Given the description of an element on the screen output the (x, y) to click on. 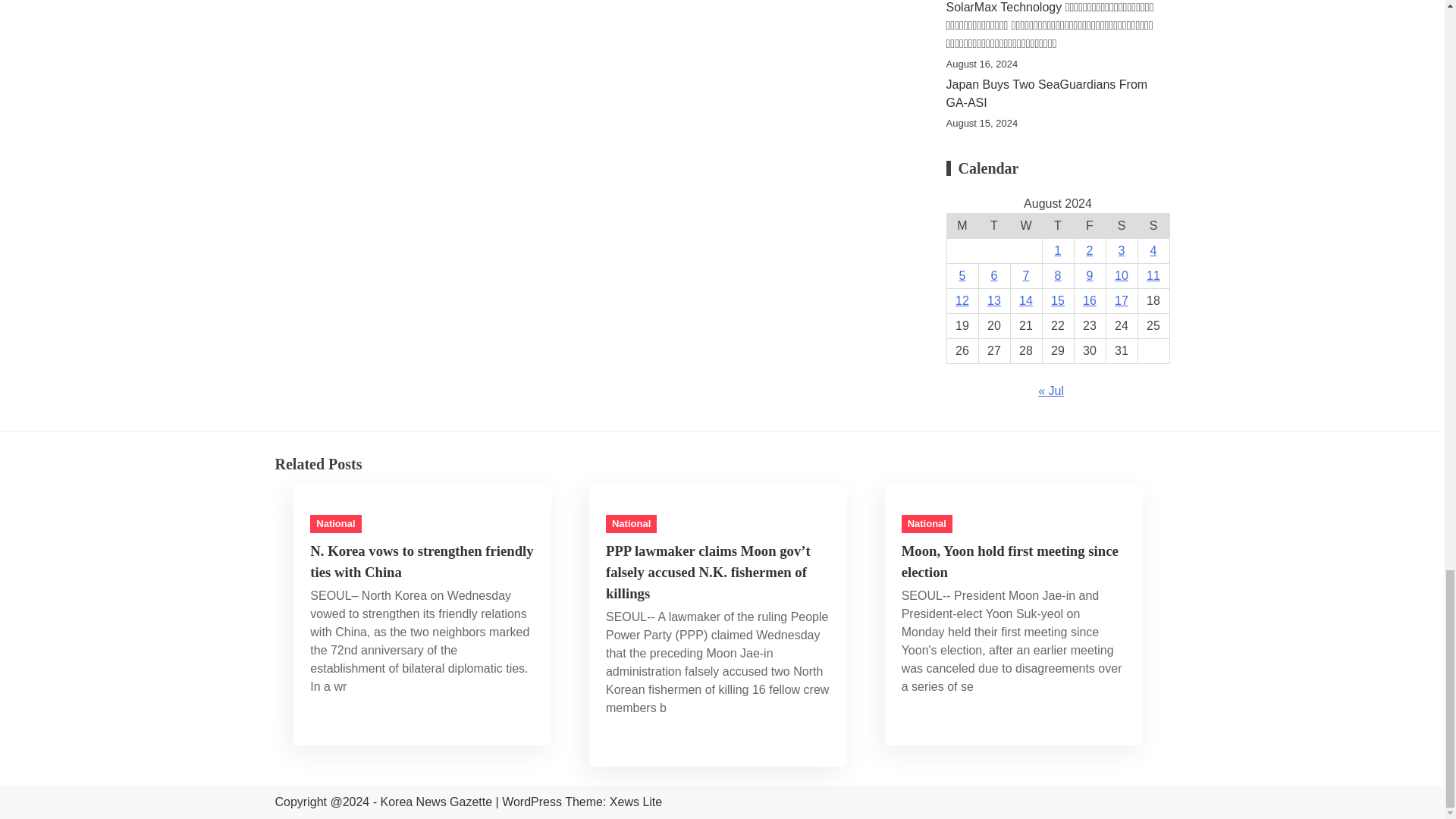
Wednesday (1026, 226)
Saturday (1121, 226)
Thursday (1058, 226)
Sunday (1153, 226)
Monday (962, 226)
Friday (1089, 226)
Tuesday (994, 226)
